Given the description of an element on the screen output the (x, y) to click on. 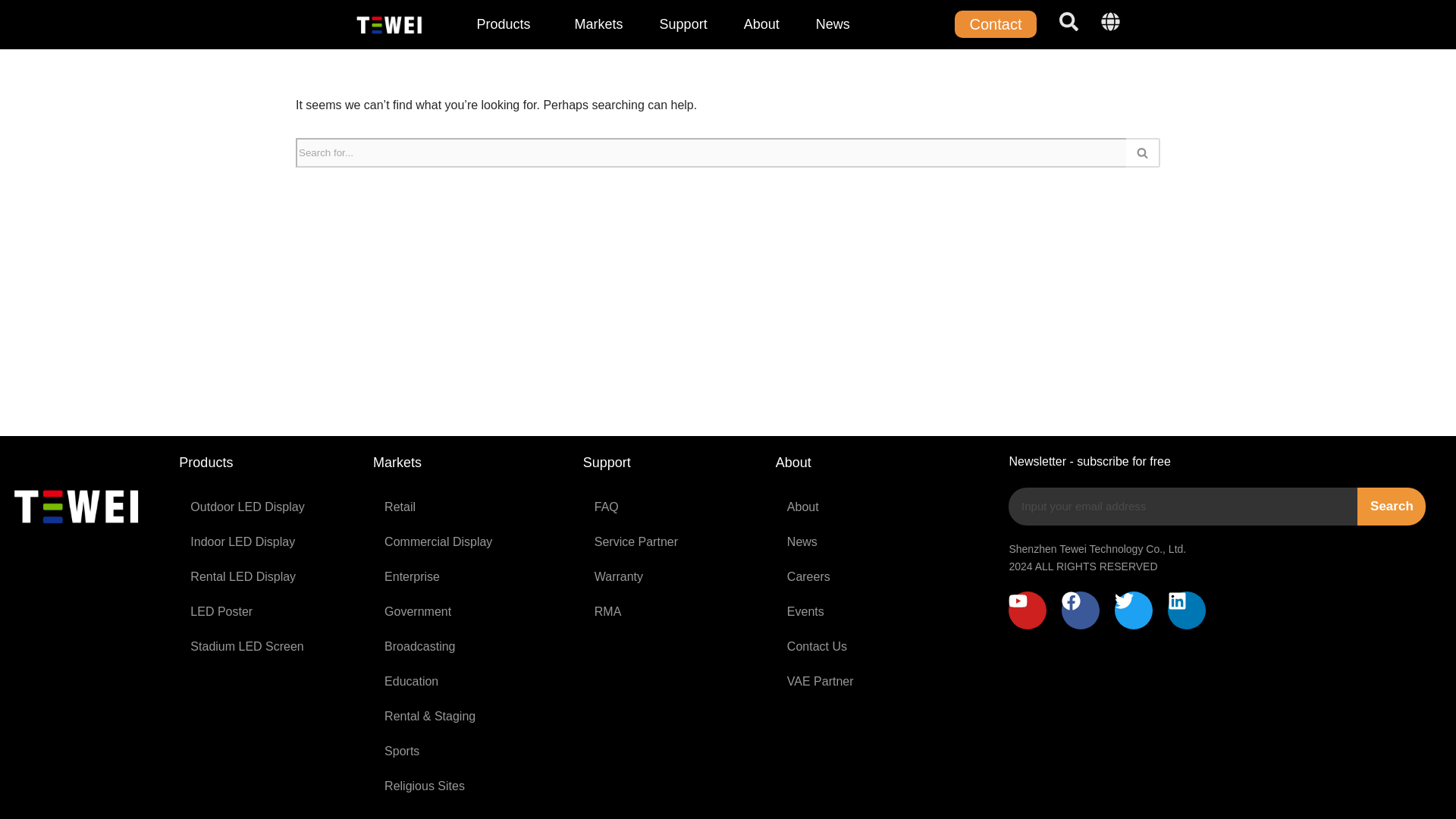
FAQ (671, 506)
Contact (995, 23)
Support (683, 24)
Retail (469, 506)
Contact Us (885, 646)
Commercial Display (469, 541)
Government (469, 611)
Rental LED Display (268, 576)
LED Poster (268, 611)
Outdoor LED Display (268, 506)
